Given the description of an element on the screen output the (x, y) to click on. 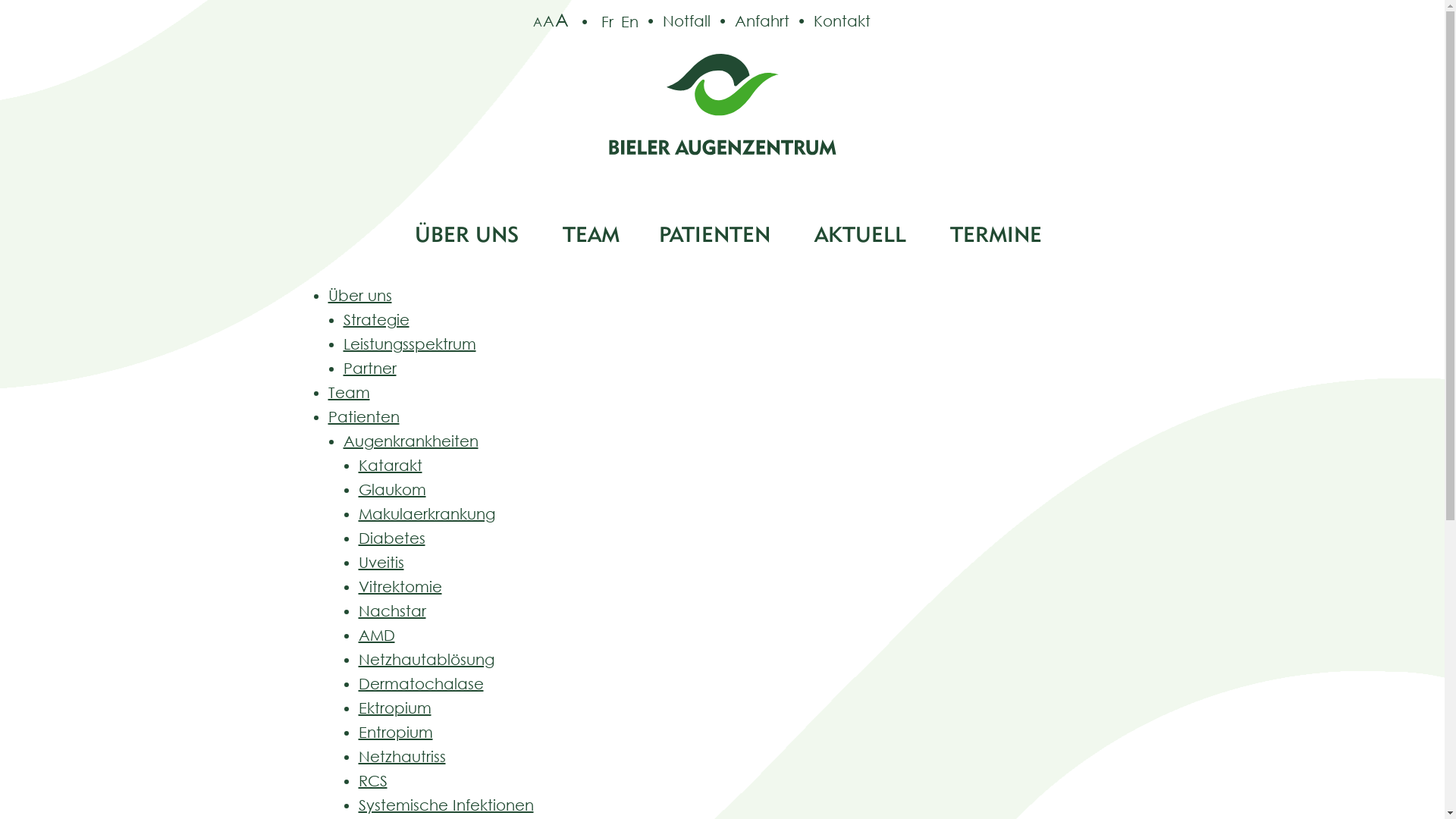
Uveitis Element type: text (380, 562)
Glaukom Element type: text (391, 489)
Dermatochalase Element type: text (420, 683)
A Element type: text (561, 19)
Notfall Element type: text (674, 20)
AKTUELL Element type: text (856, 234)
AMD Element type: text (375, 634)
Ektropium Element type: text (393, 707)
Katarakt Element type: text (389, 464)
Nachstar Element type: text (391, 610)
Diabetes Element type: text (390, 537)
Netzhautriss Element type: text (401, 756)
PATIENTEN Element type: text (710, 234)
A Element type: text (548, 20)
Kontakt Element type: text (828, 20)
TEAM Element type: text (584, 234)
Augenkrankheiten Element type: text (409, 440)
Team Element type: text (348, 392)
Systemische Infektionen Element type: text (445, 804)
Anfahrt Element type: text (748, 20)
Leistungsspektrum Element type: text (408, 343)
Vitrektomie Element type: text (399, 586)
A Element type: text (536, 21)
Partner Element type: text (368, 367)
TERMINE Element type: text (989, 234)
Strategie Element type: text (375, 319)
Entropium Element type: text (394, 731)
RCS Element type: text (371, 780)
Makulaerkrankung Element type: text (425, 513)
Patienten Element type: text (362, 416)
